Given the description of an element on the screen output the (x, y) to click on. 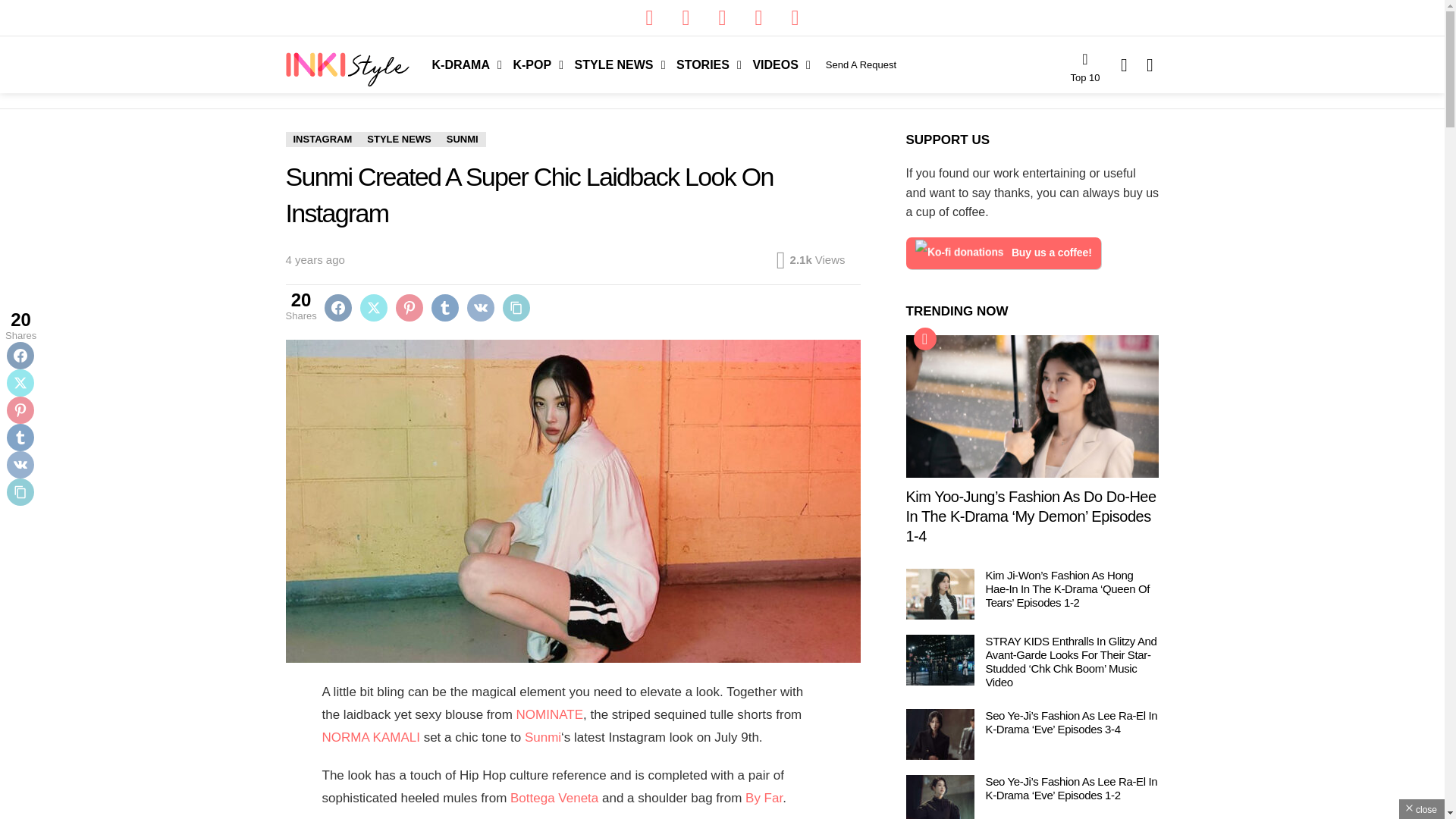
K-POP (534, 64)
facebook (648, 18)
tumblr (794, 18)
K-DRAMA (463, 64)
pinterest (757, 18)
twitter (684, 18)
instagram (721, 18)
STORIES (704, 64)
STYLE NEWS (616, 64)
